Given the description of an element on the screen output the (x, y) to click on. 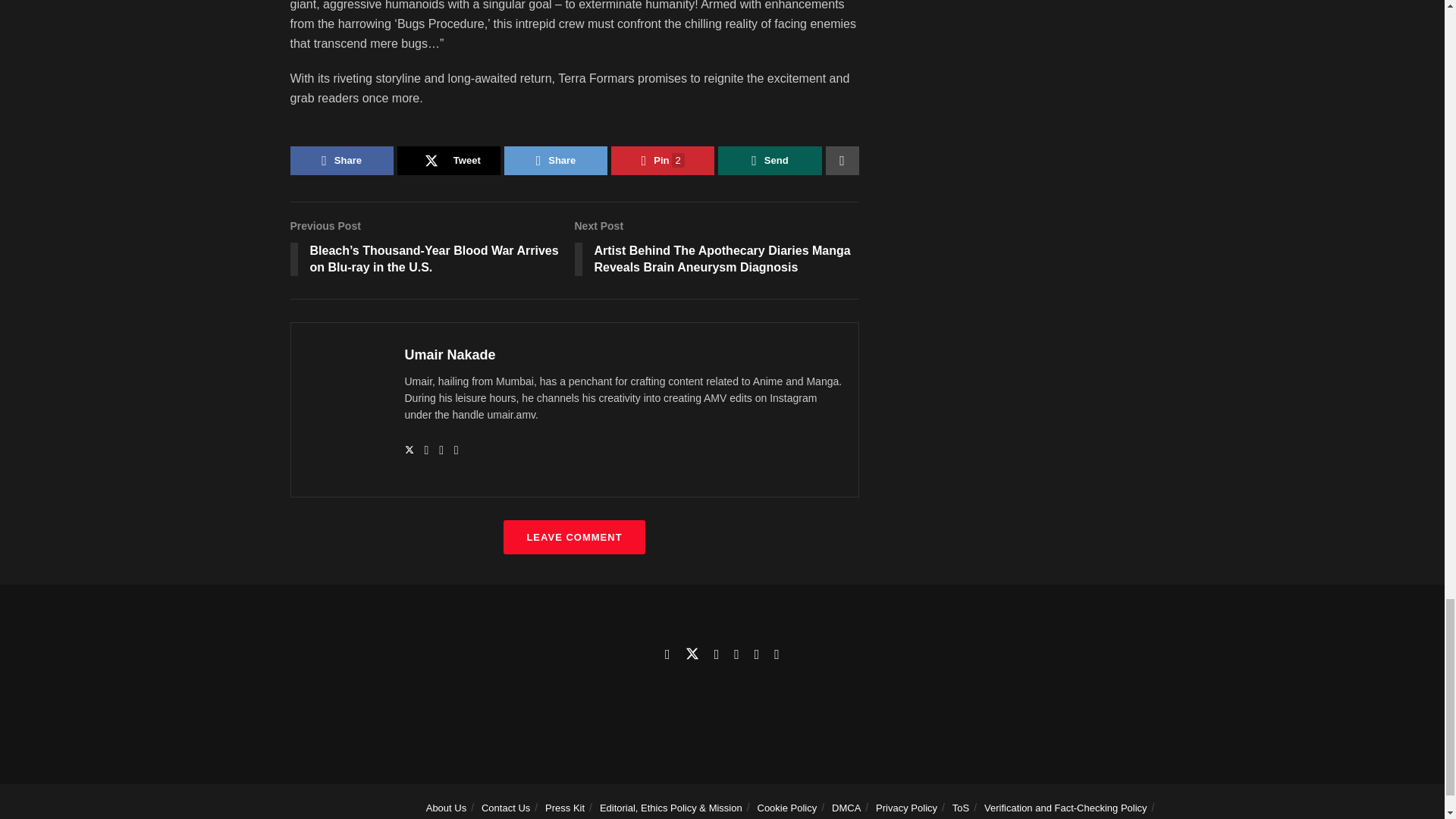
Umair Nakade (450, 354)
Share (341, 160)
Tweet (448, 160)
Pin2 (662, 160)
Send (769, 160)
Share (555, 160)
